Given the description of an element on the screen output the (x, y) to click on. 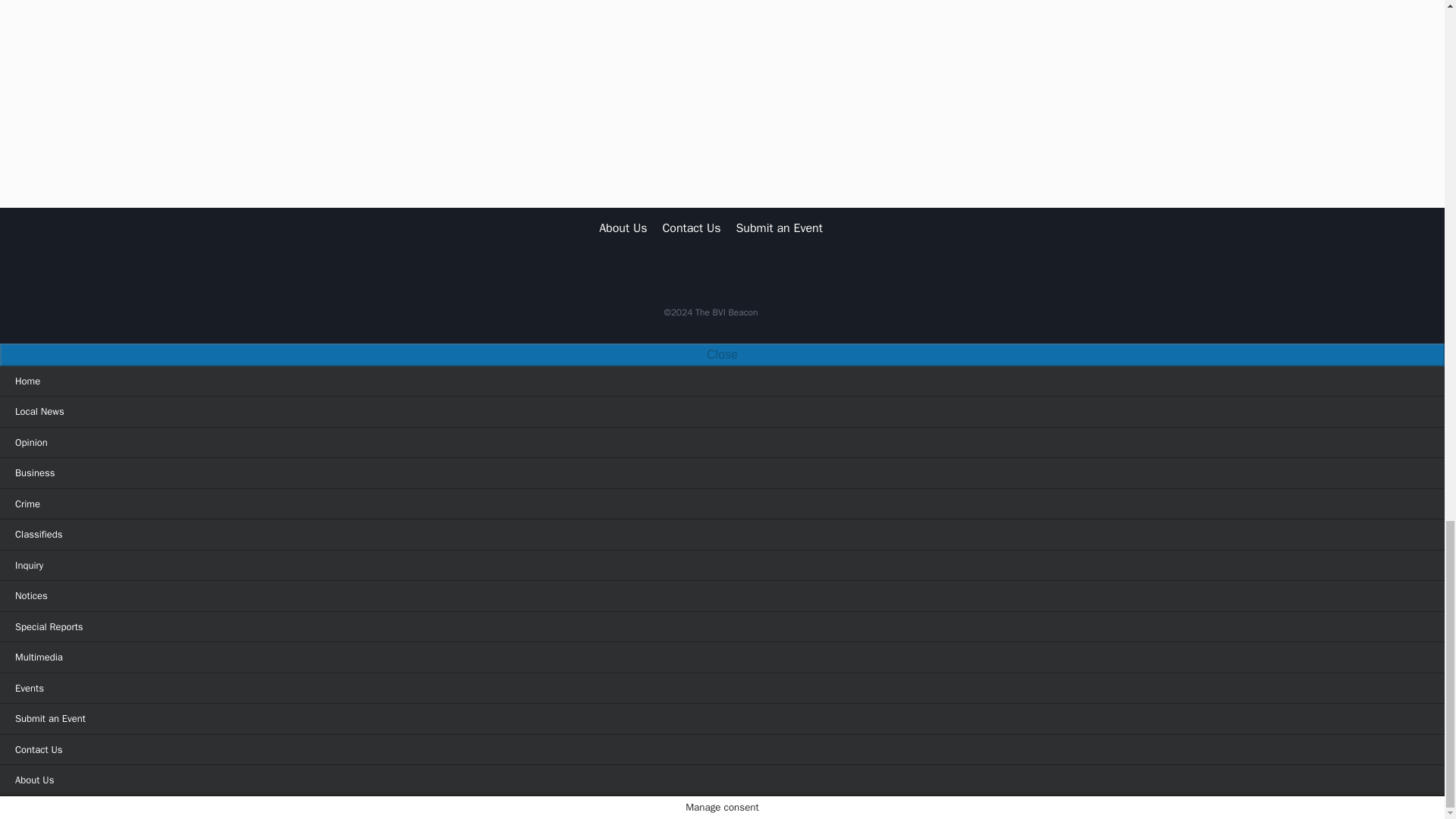
Contact Us (690, 228)
About Us (622, 228)
